Given the description of an element on the screen output the (x, y) to click on. 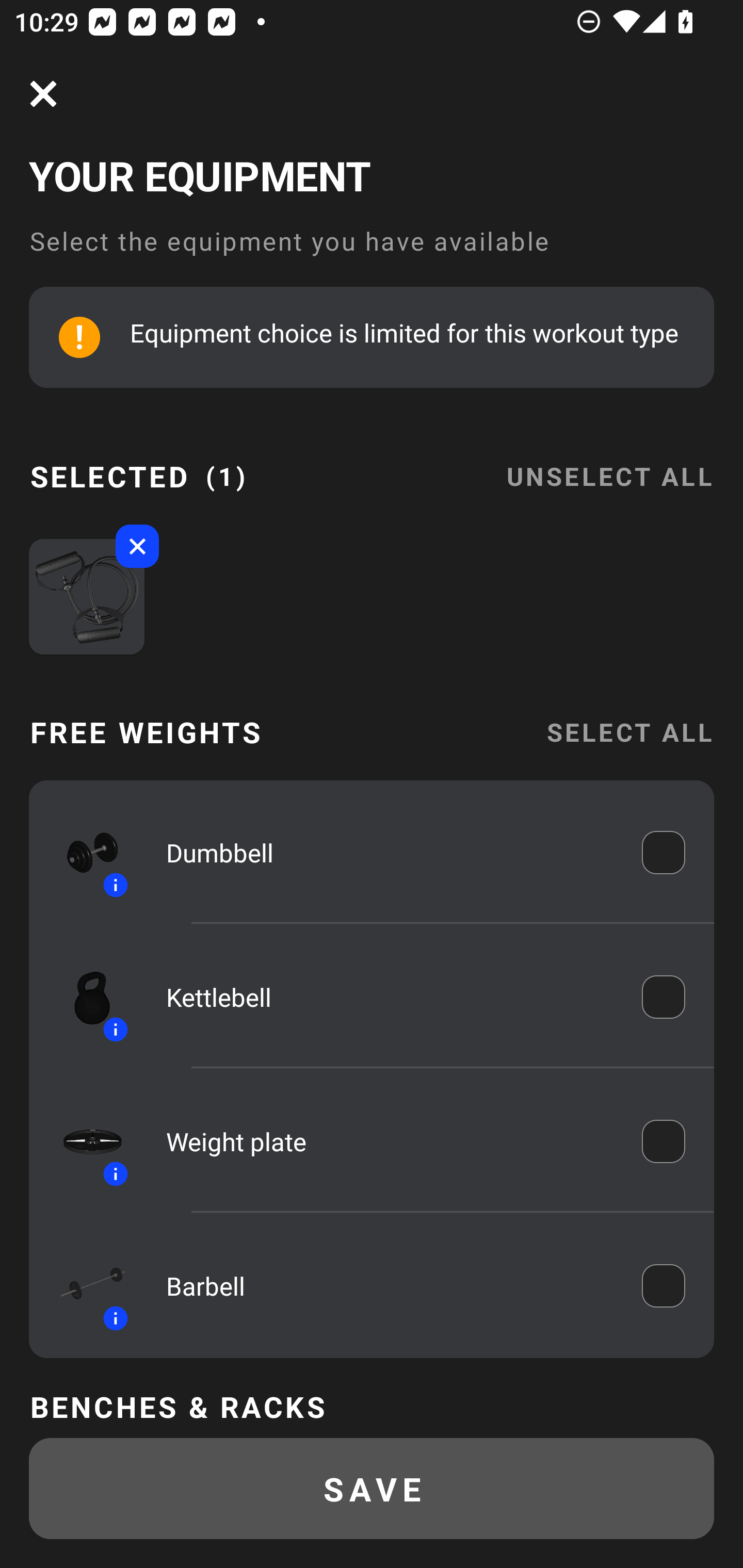
Navigation icon (43, 93)
UNSELECT ALL (609, 463)
SELECT ALL (629, 731)
Equipment icon Information icon (82, 852)
Dumbbell (389, 852)
Equipment icon Information icon (82, 996)
Kettlebell (389, 996)
Equipment icon Information icon (82, 1140)
Weight plate (389, 1141)
Equipment icon Information icon (82, 1286)
Barbell (389, 1285)
SAVE (371, 1488)
